Given the description of an element on the screen output the (x, y) to click on. 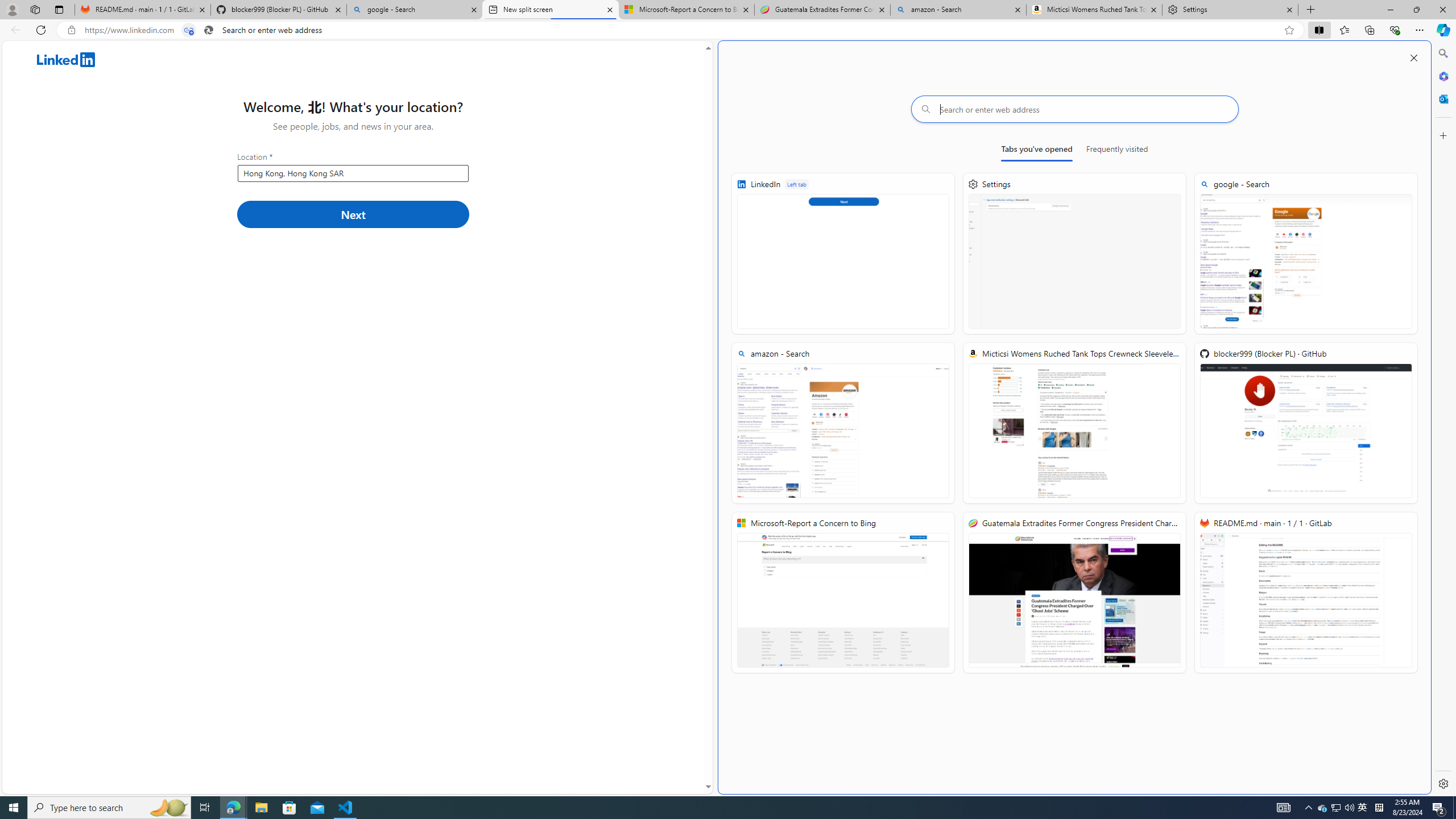
Frequently visited (1117, 151)
Search icon (208, 29)
Microsoft-Report a Concern to Bing (685, 9)
